Given the description of an element on the screen output the (x, y) to click on. 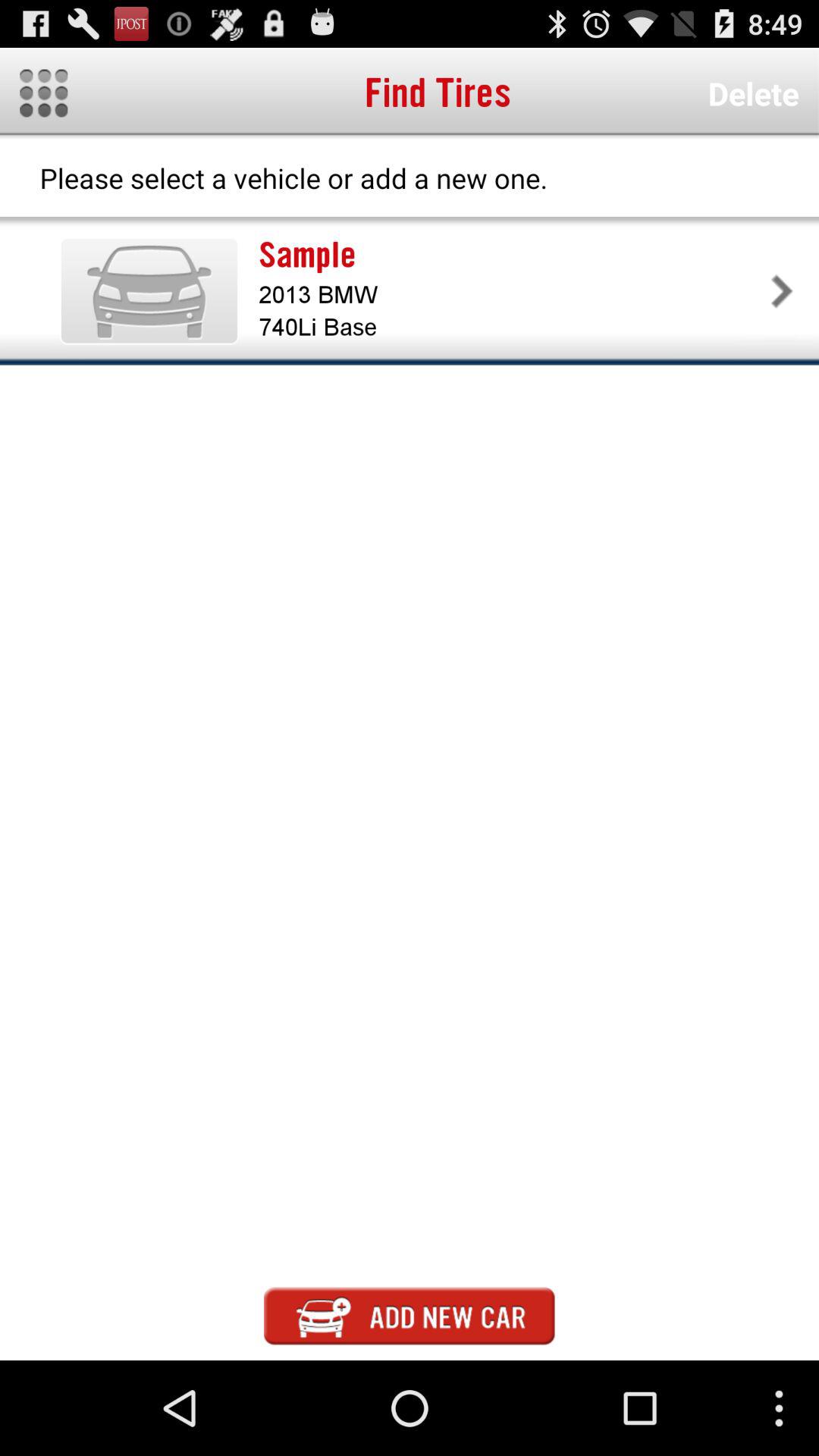
tap the icon next to find tires item (753, 92)
